Given the description of an element on the screen output the (x, y) to click on. 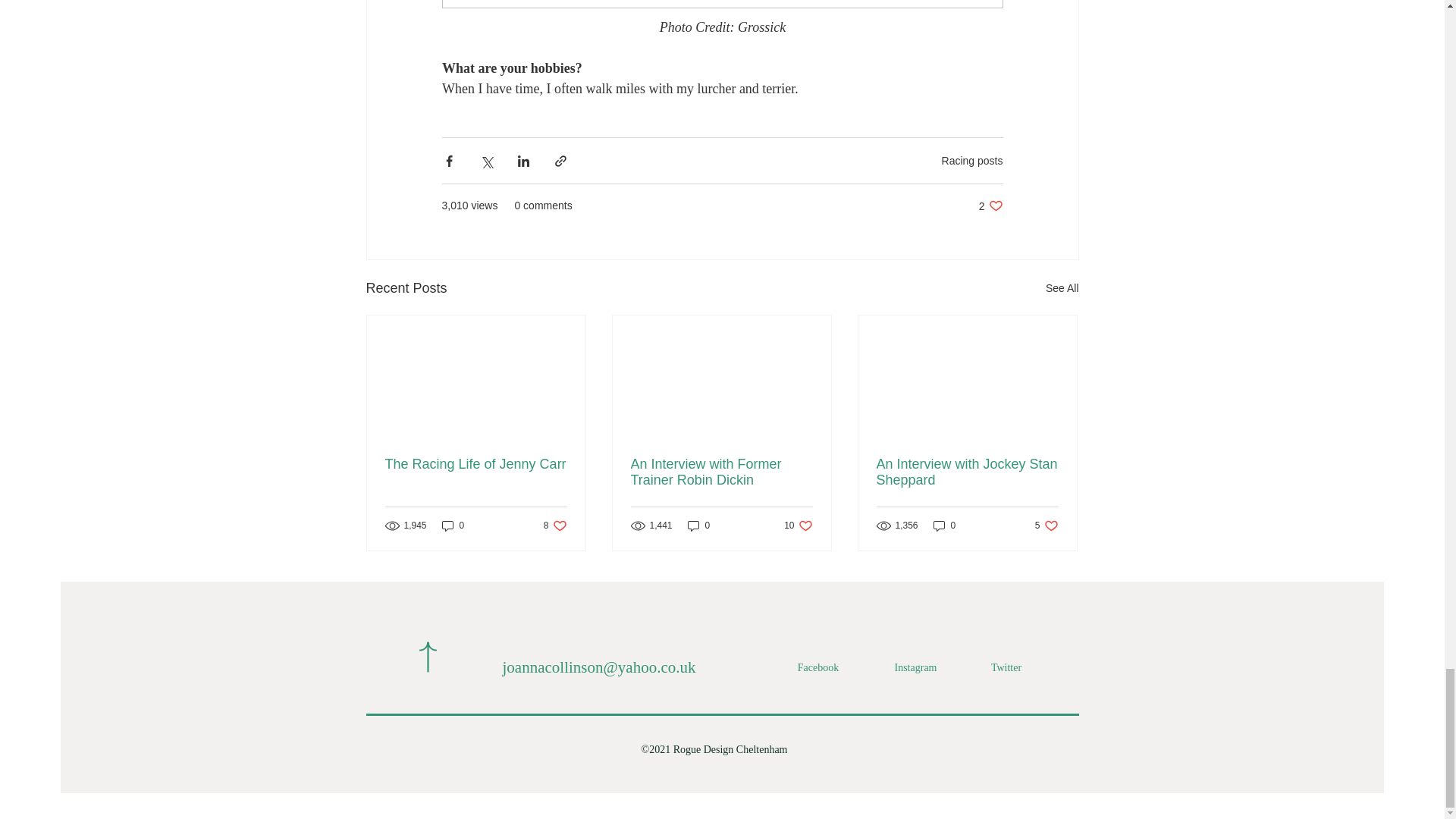
See All (1061, 288)
Twitter (555, 525)
0 (1005, 667)
Racing posts (1046, 525)
Facebook (944, 525)
0 (972, 160)
The Racing Life of Jenny Carr (818, 667)
An Interview with Former Trainer Robin Dickin (453, 525)
An Interview with Jockey Stan Sheppard (990, 205)
Instagram (476, 464)
0 (721, 472)
